Given the description of an element on the screen output the (x, y) to click on. 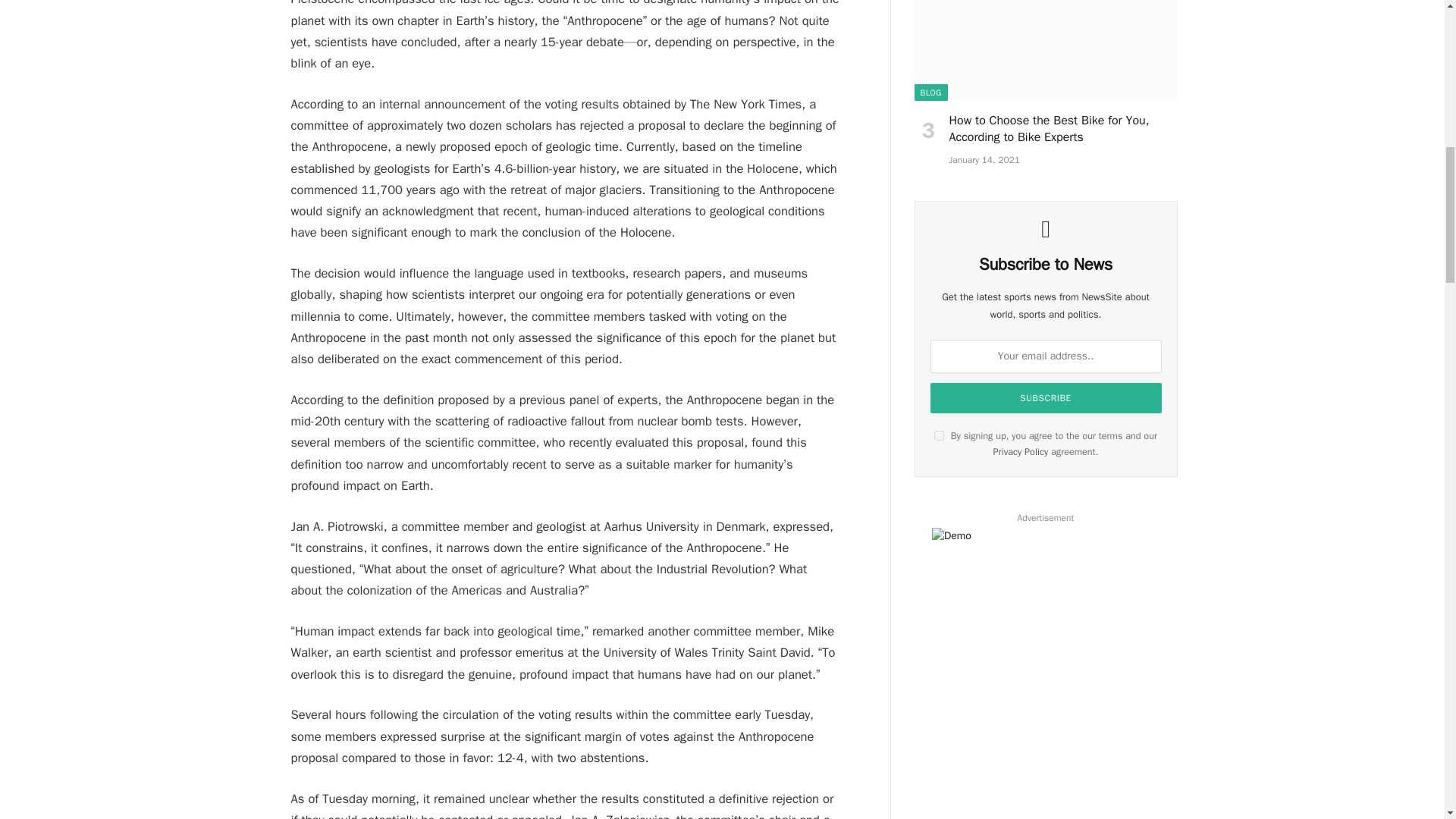
on (938, 435)
Subscribe (1045, 398)
